Given the description of an element on the screen output the (x, y) to click on. 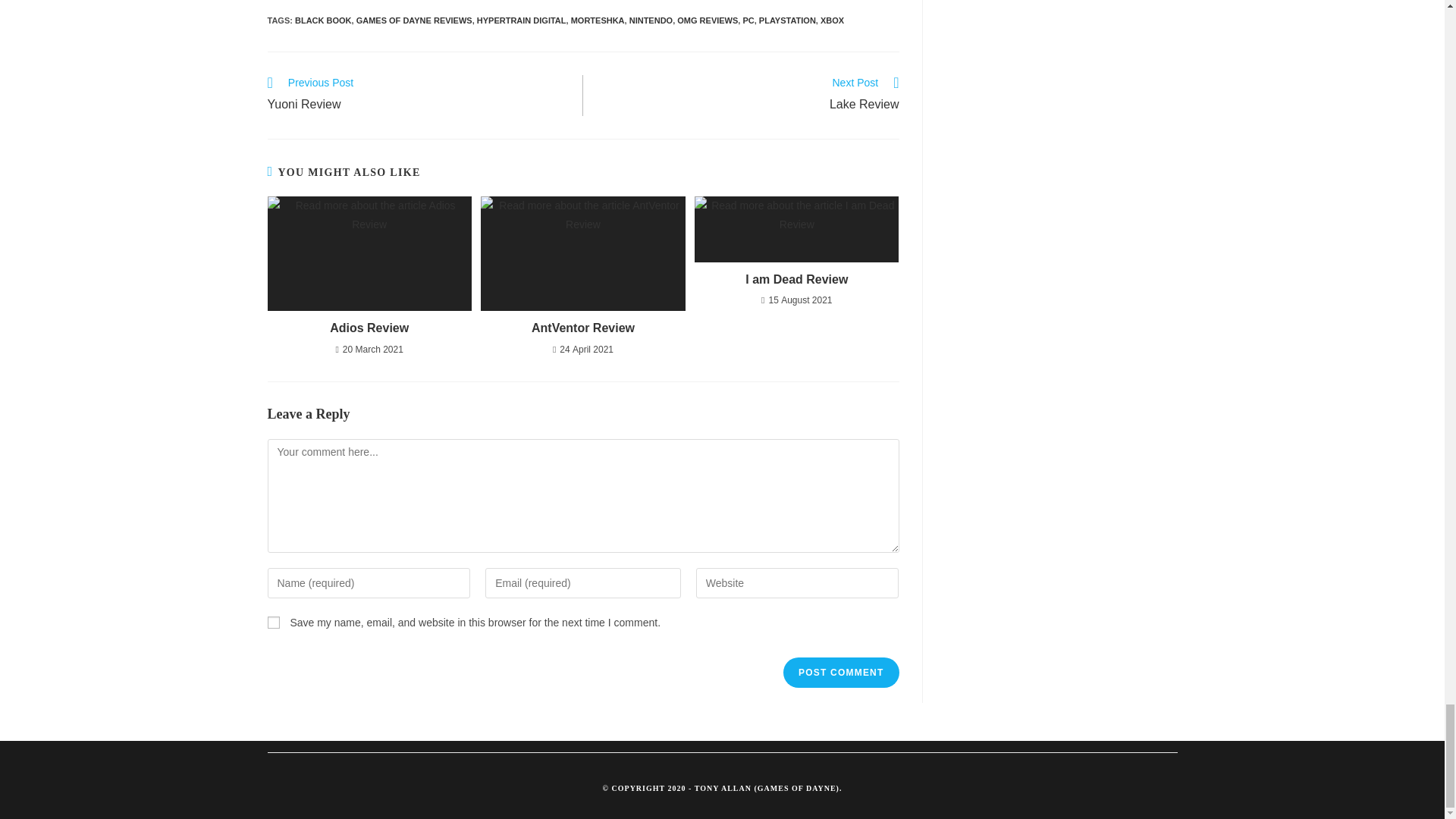
NINTENDO (650, 20)
XBOX (832, 20)
Post Comment (748, 95)
HYPERTRAIN DIGITAL (840, 672)
OMG REVIEWS (521, 20)
Adios Review (707, 20)
yes (368, 328)
PC (272, 622)
GAMES OF DAYNE REVIEWS (748, 20)
